Given the description of an element on the screen output the (x, y) to click on. 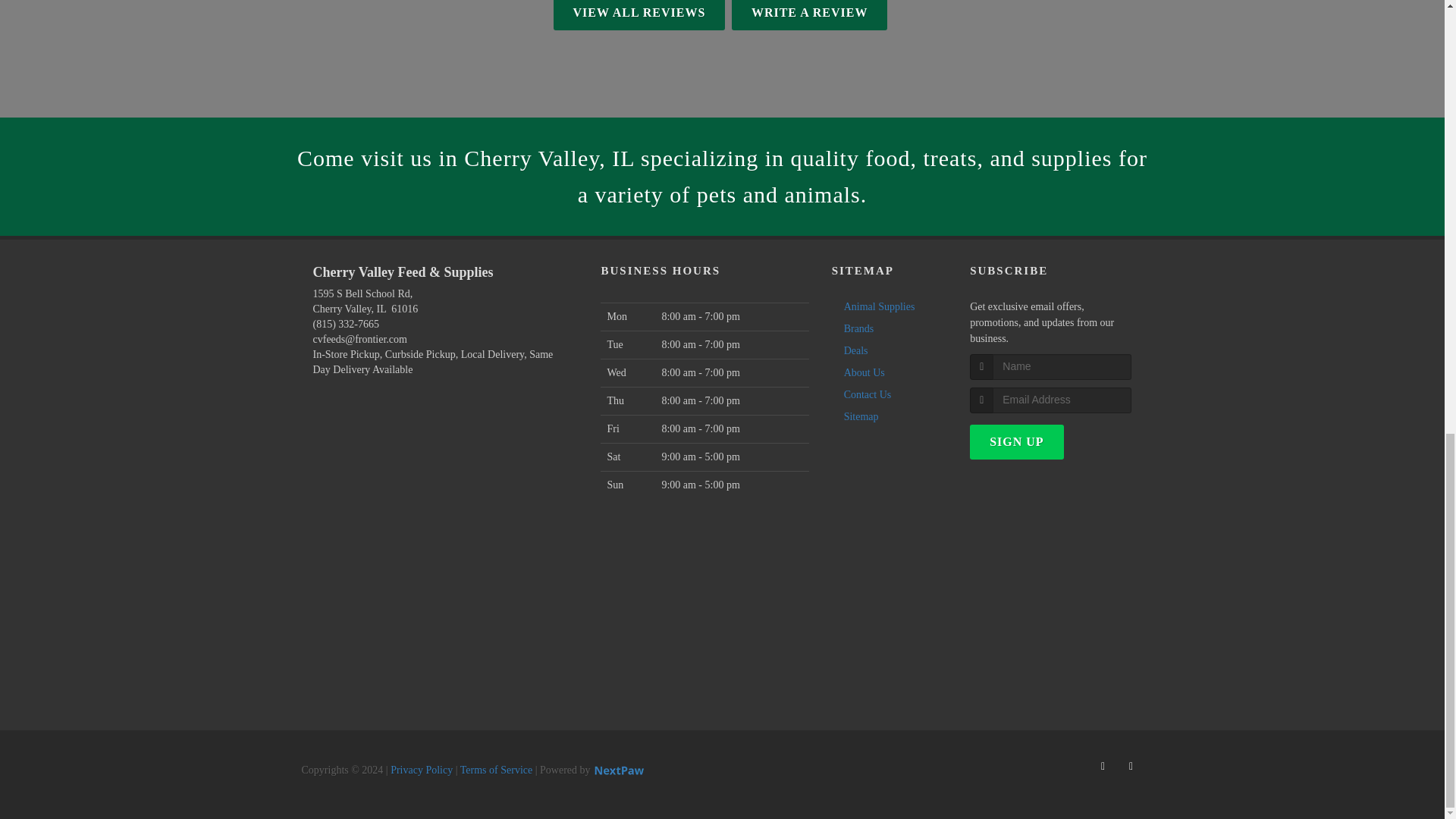
VIEW ALL REVIEWS (639, 15)
WRITE A REVIEW (810, 15)
Animal Supplies (875, 306)
Brands (855, 328)
